Given the description of an element on the screen output the (x, y) to click on. 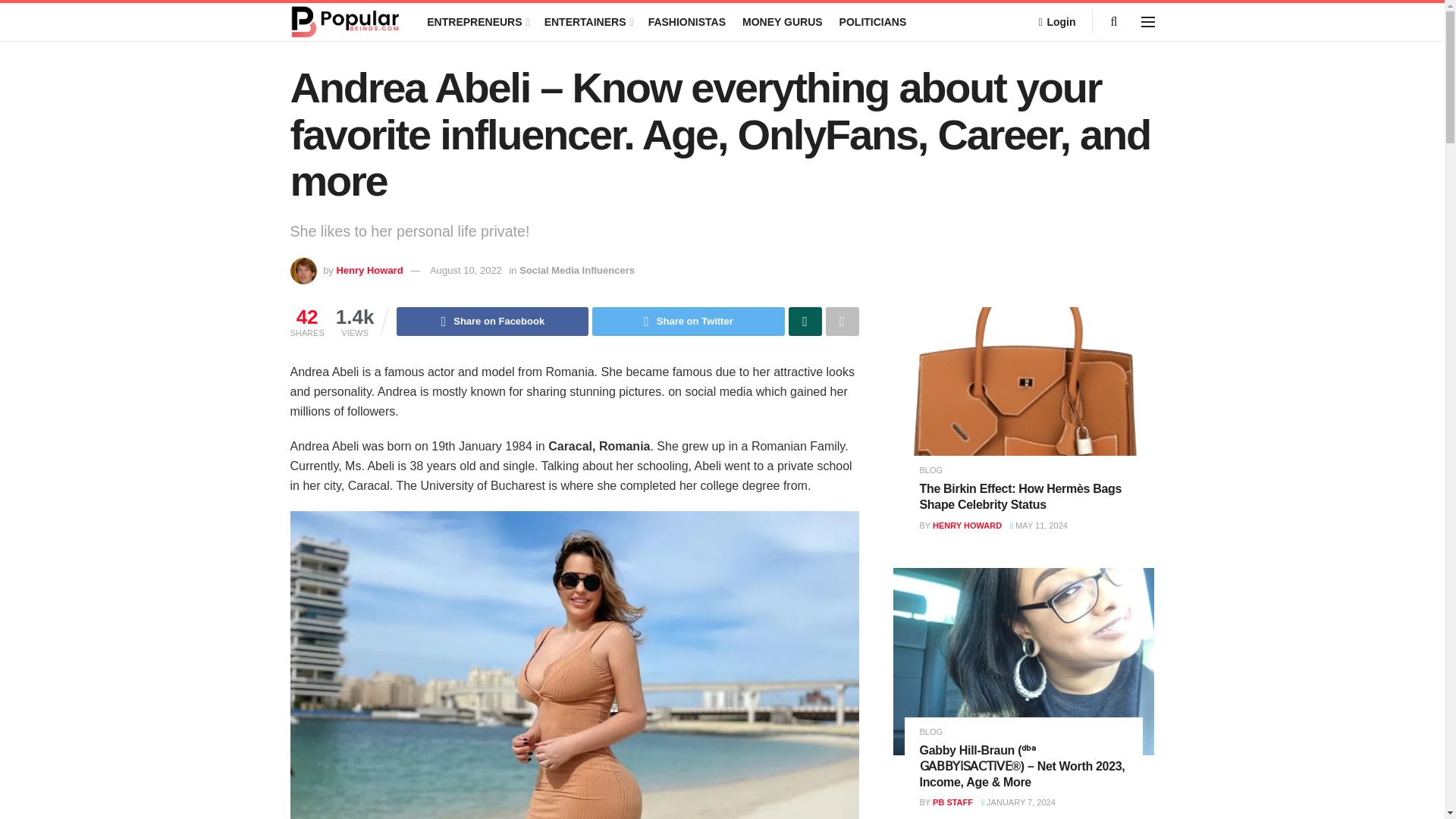
Social Media Influencers (576, 270)
Henry Howard (369, 270)
August 10, 2022 (465, 270)
Share on Facebook (492, 321)
Share on Twitter (688, 321)
ENTERTAINERS (587, 21)
ENTREPRENEURS (476, 21)
MONEY GURUS (782, 21)
Login (1056, 21)
FASHIONISTAS (686, 21)
